Given the description of an element on the screen output the (x, y) to click on. 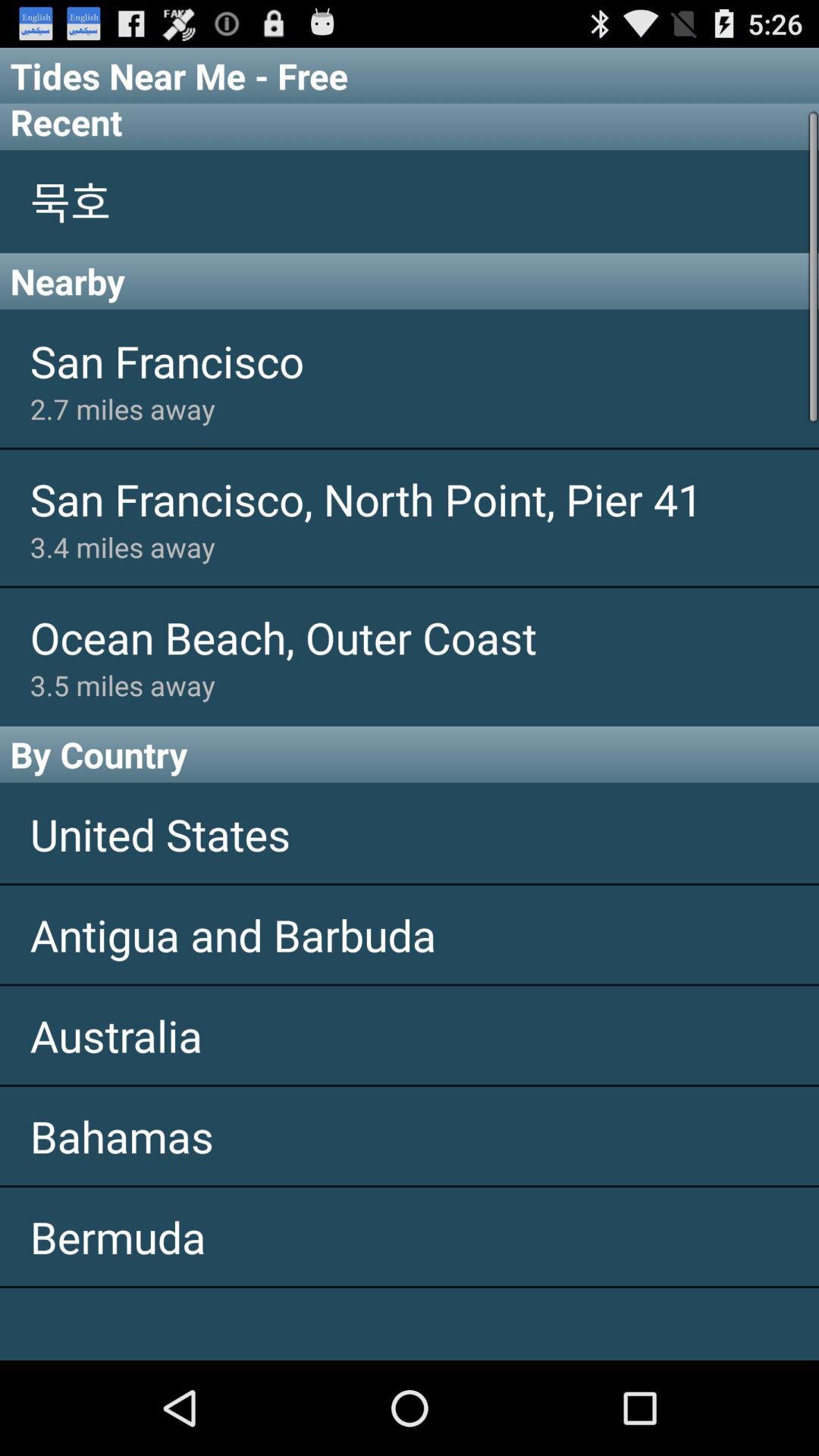
scroll to the bermuda (409, 1236)
